Given the description of an element on the screen output the (x, y) to click on. 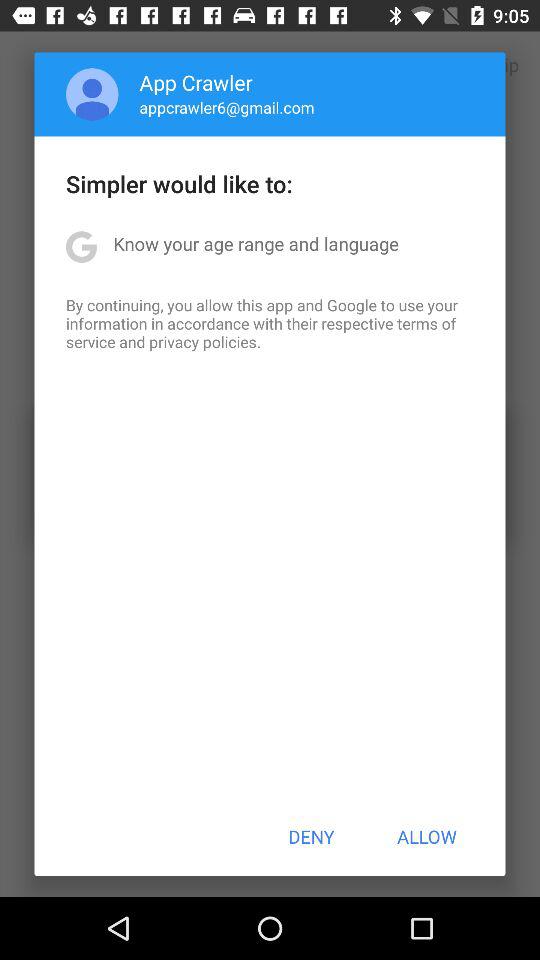
open app below the by continuing you icon (311, 836)
